Given the description of an element on the screen output the (x, y) to click on. 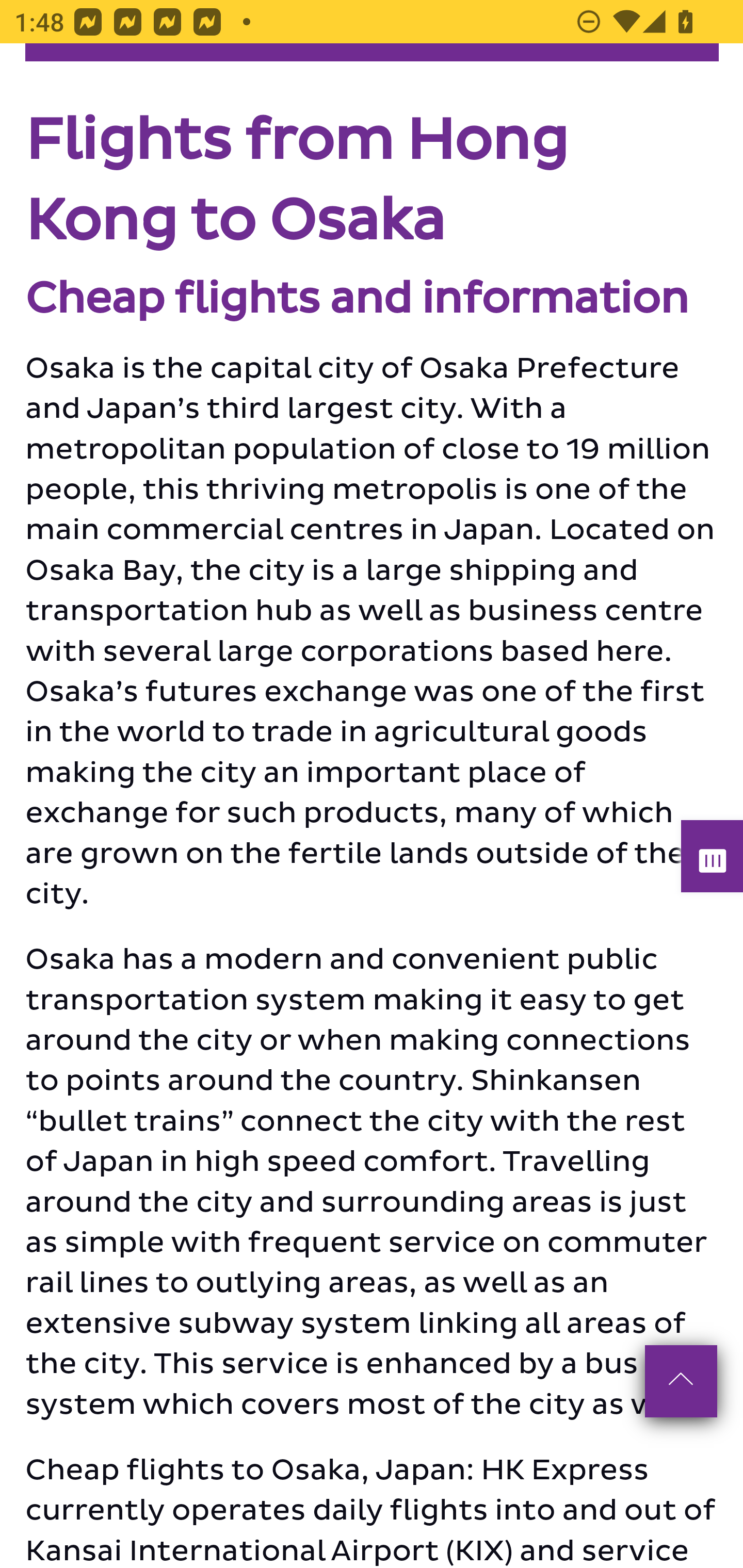
 Scroll Back To Top (680, 1382)
